Given the description of an element on the screen output the (x, y) to click on. 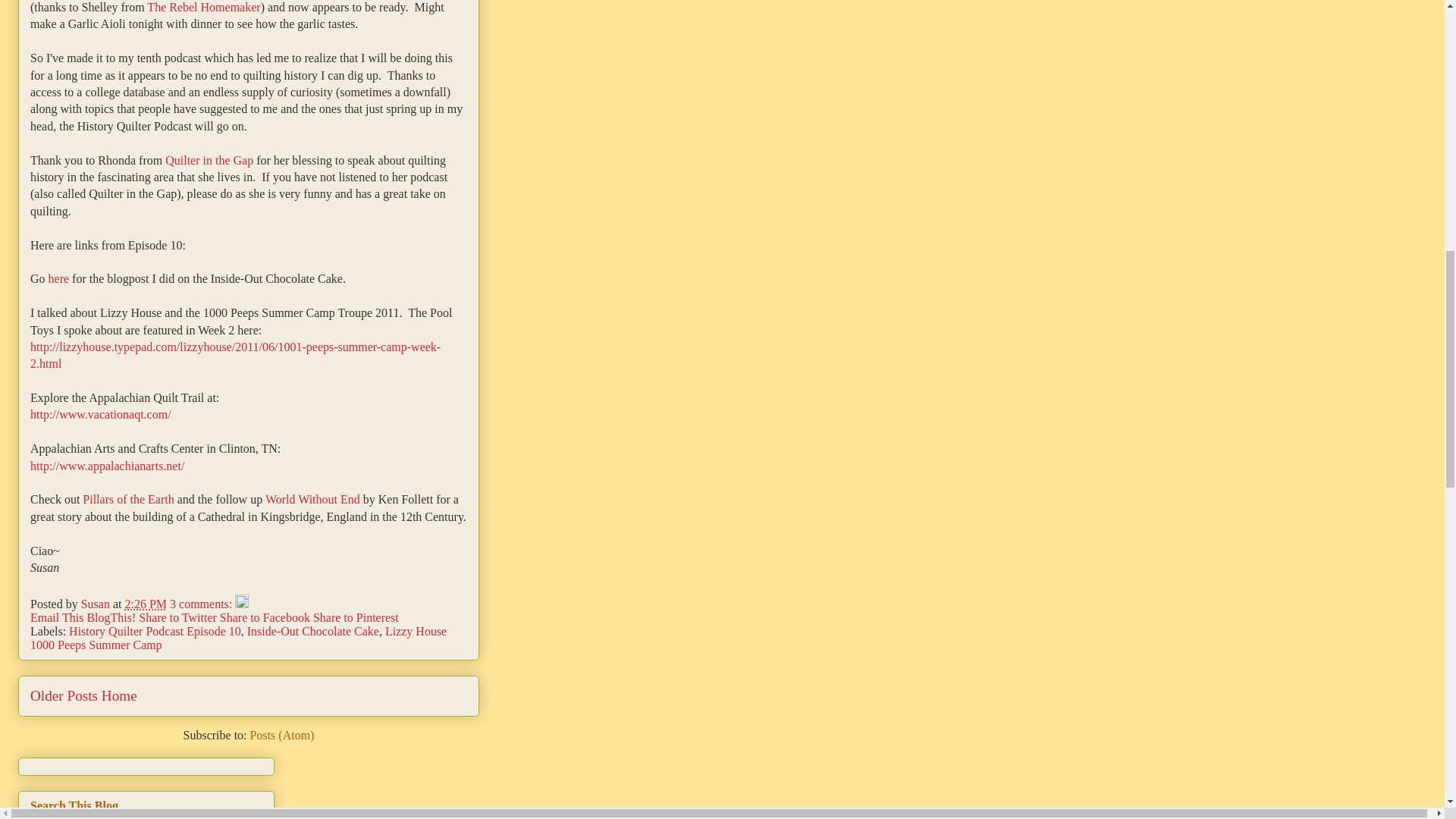
Share to Twitter (178, 617)
here (58, 278)
Home (118, 695)
Inside-Out Chocolate Cake (312, 631)
BlogThis! (111, 617)
2:26 PM (146, 603)
Email This (57, 617)
Share to Facebook (266, 617)
permanent link (146, 603)
Older Posts (63, 695)
The Rebel Homemaker (203, 6)
author profile (97, 603)
Lizzy House 1000 Peeps Summer Camp (238, 637)
Share to Facebook (266, 617)
Share to Pinterest (355, 617)
